Given the description of an element on the screen output the (x, y) to click on. 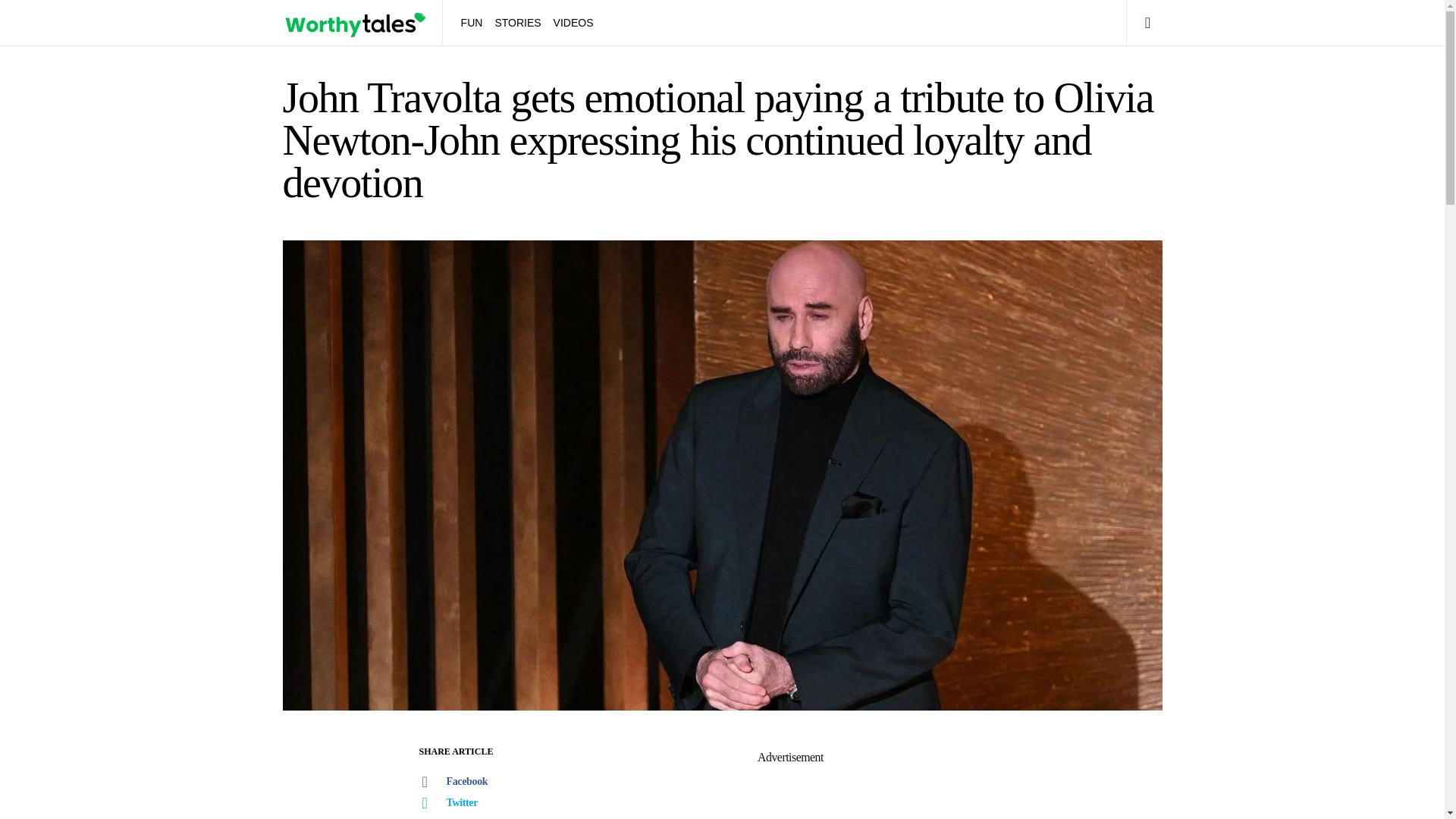
Advertisement (789, 793)
VIDEOS (570, 22)
STORIES (517, 22)
Twitter (470, 803)
Facebook (470, 781)
